Given the description of an element on the screen output the (x, y) to click on. 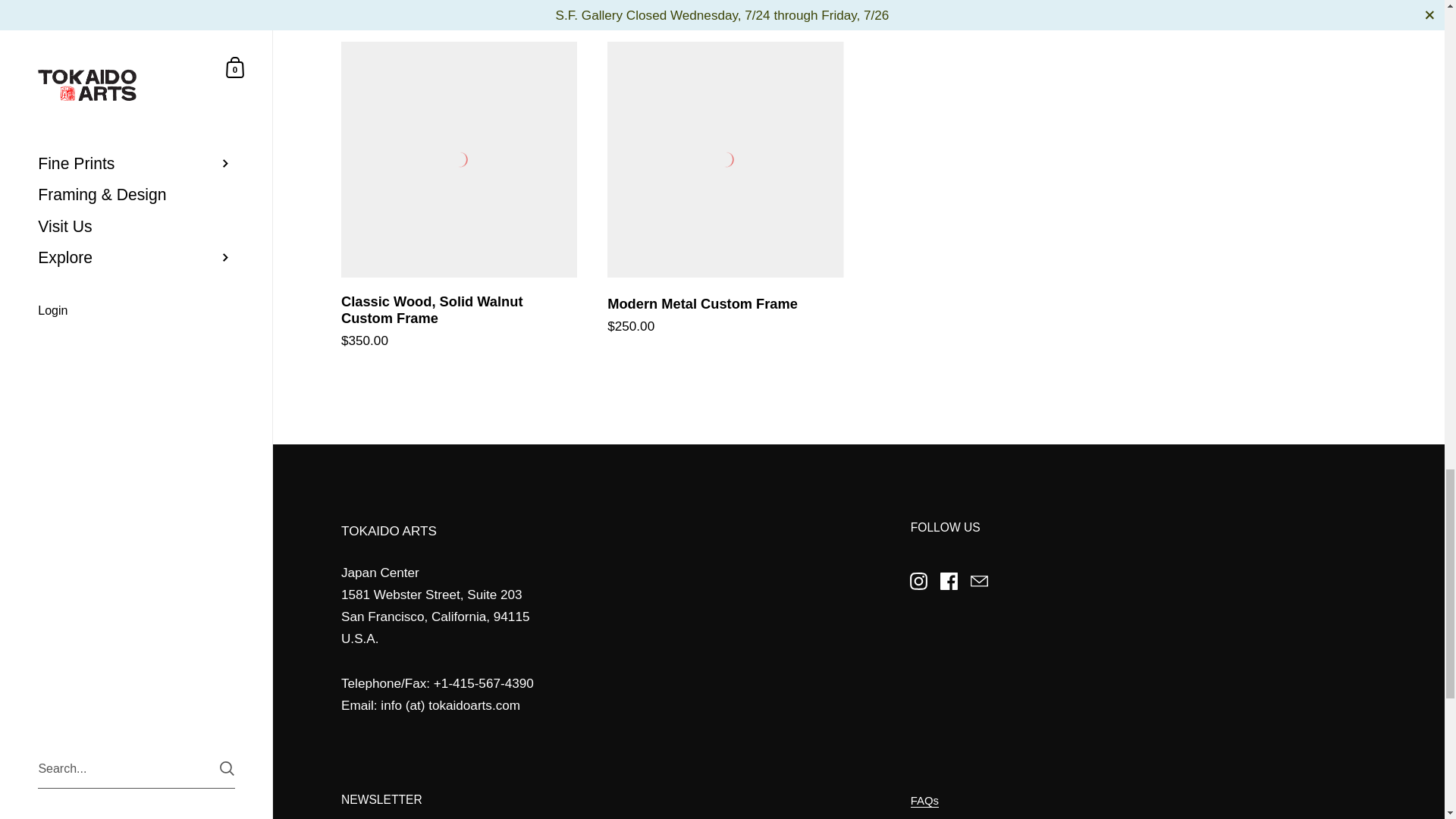
Instagram (919, 580)
Email (978, 580)
Facebook (948, 580)
FAQs (925, 800)
